Given the description of an element on the screen output the (x, y) to click on. 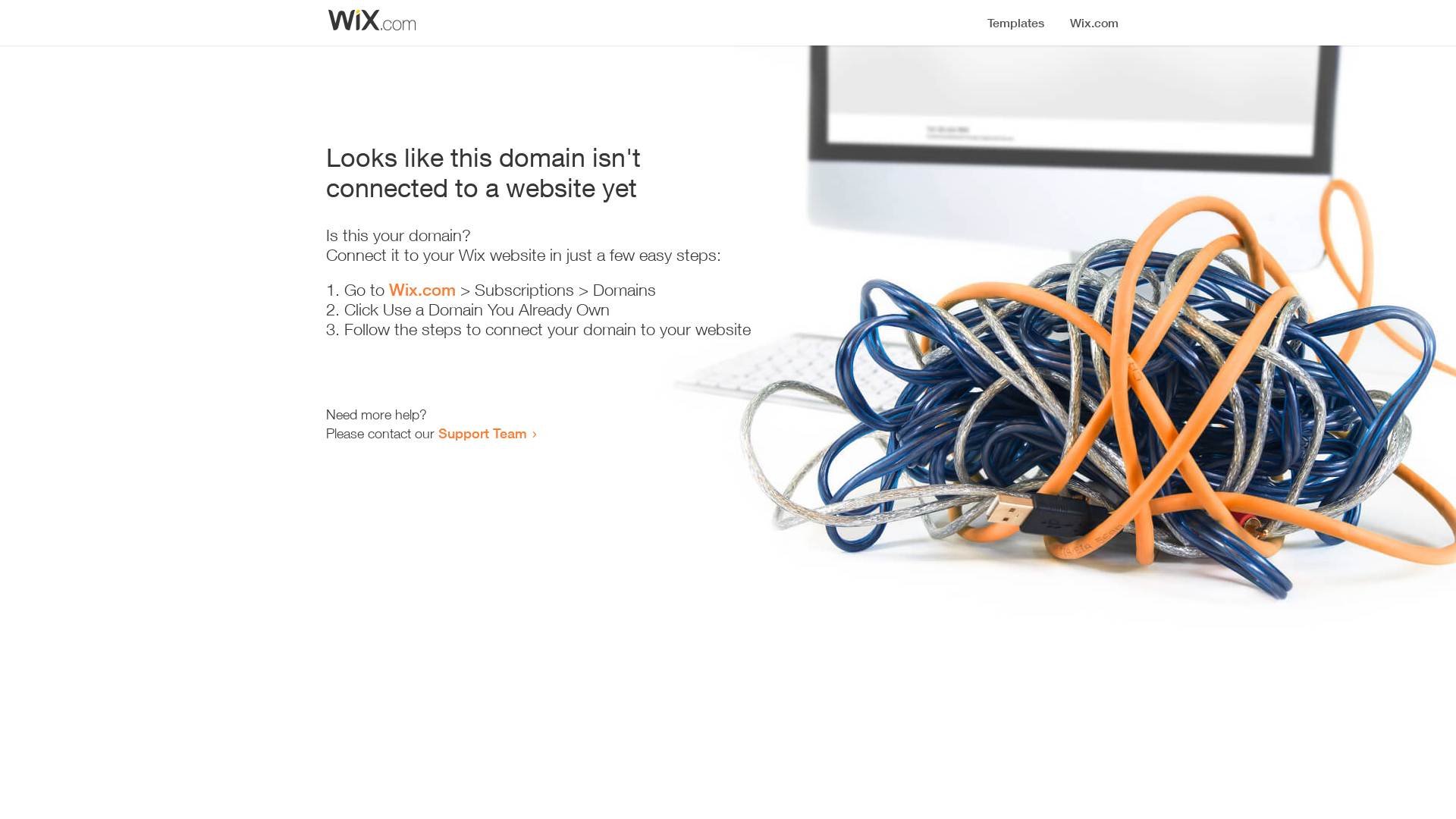
Wix.com Element type: text (422, 289)
Support Team Element type: text (482, 432)
